Given the description of an element on the screen output the (x, y) to click on. 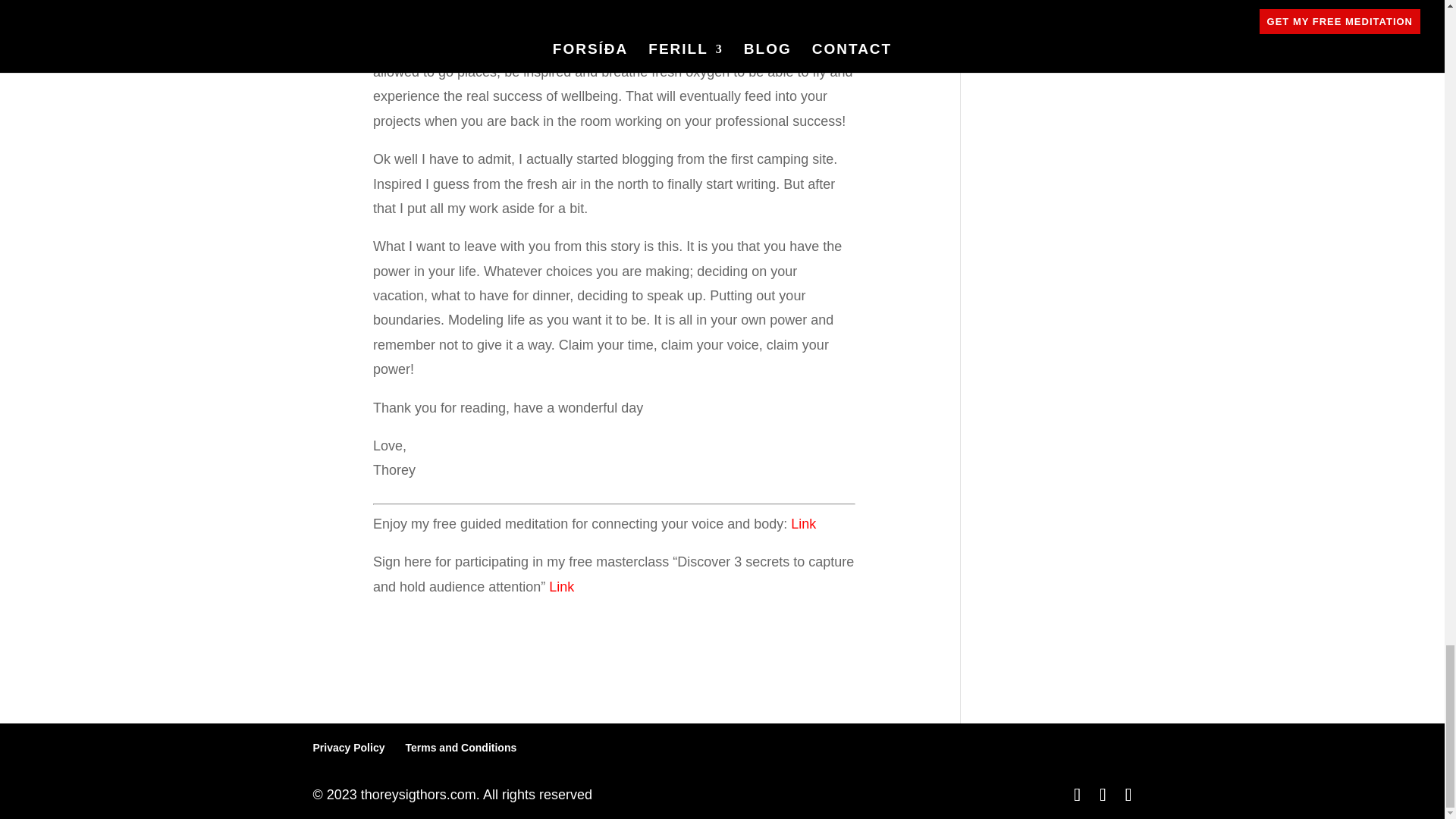
Link (802, 523)
Privacy Policy (348, 747)
Terms and Conditions (460, 747)
Link (560, 586)
